Given the description of an element on the screen output the (x, y) to click on. 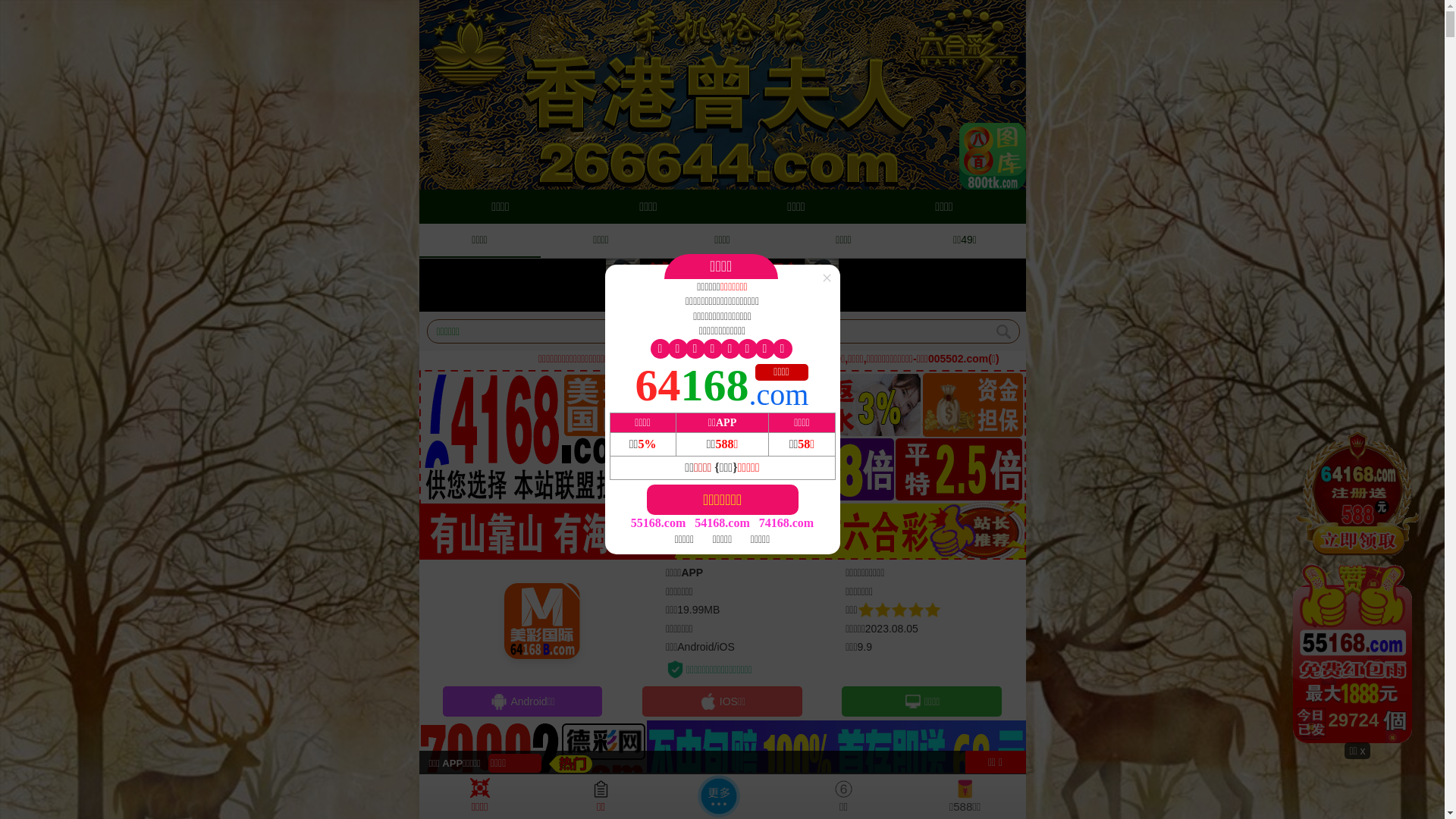
28959 Element type: text (1356, 585)
